Given the description of an element on the screen output the (x, y) to click on. 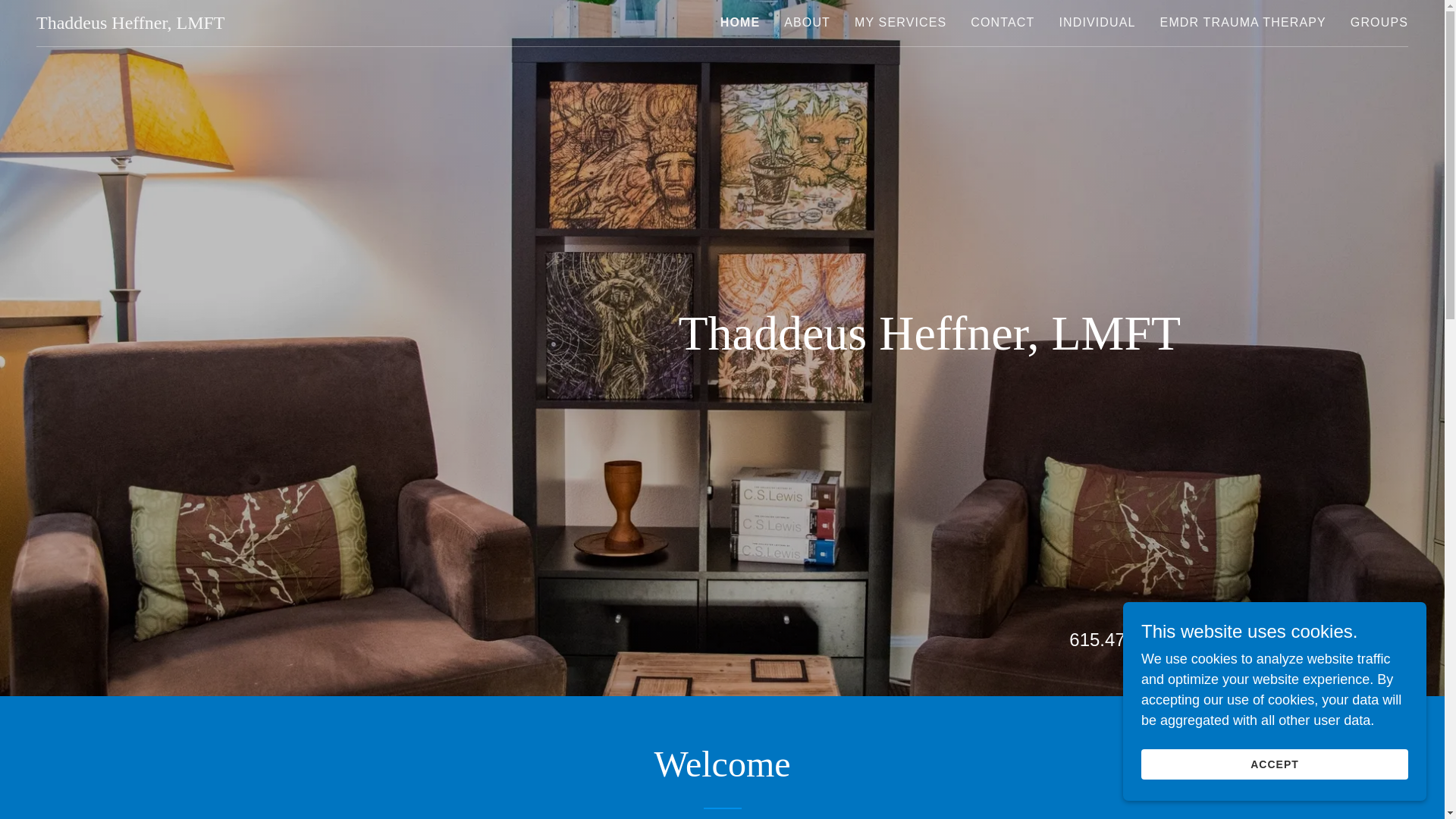
ACCEPT (1274, 764)
EMDR TRAUMA THERAPY (1243, 22)
ABOUT (806, 22)
Thaddeus Heffner, LMFT (130, 23)
GROUPS (1378, 22)
MY SERVICES (900, 22)
Thaddeus Heffner, LMFT (130, 23)
INDIVIDUAL (1097, 22)
615.472.1210 (1124, 639)
CONTACT (1002, 22)
HOME (740, 22)
